Given the description of an element on the screen output the (x, y) to click on. 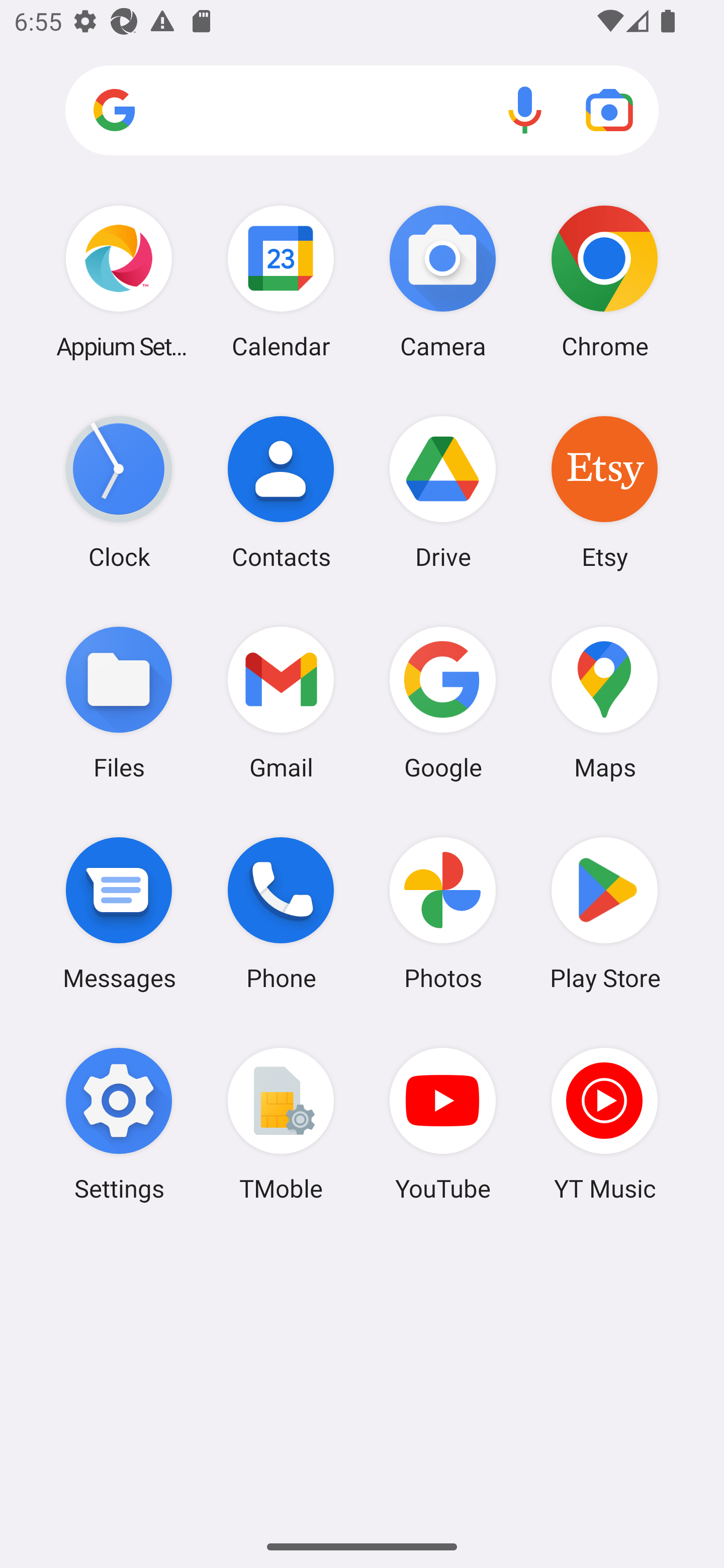
Search apps, web and more (361, 110)
Voice search (524, 109)
Google Lens (608, 109)
Appium Settings (118, 281)
Calendar (280, 281)
Camera (443, 281)
Chrome (604, 281)
Clock (118, 492)
Contacts (280, 492)
Drive (443, 492)
Etsy (604, 492)
Files (118, 702)
Gmail (280, 702)
Google (443, 702)
Maps (604, 702)
Messages (118, 913)
Phone (280, 913)
Photos (443, 913)
Play Store (604, 913)
Settings (118, 1124)
TMoble (280, 1124)
YouTube (443, 1124)
YT Music (604, 1124)
